Given the description of an element on the screen output the (x, y) to click on. 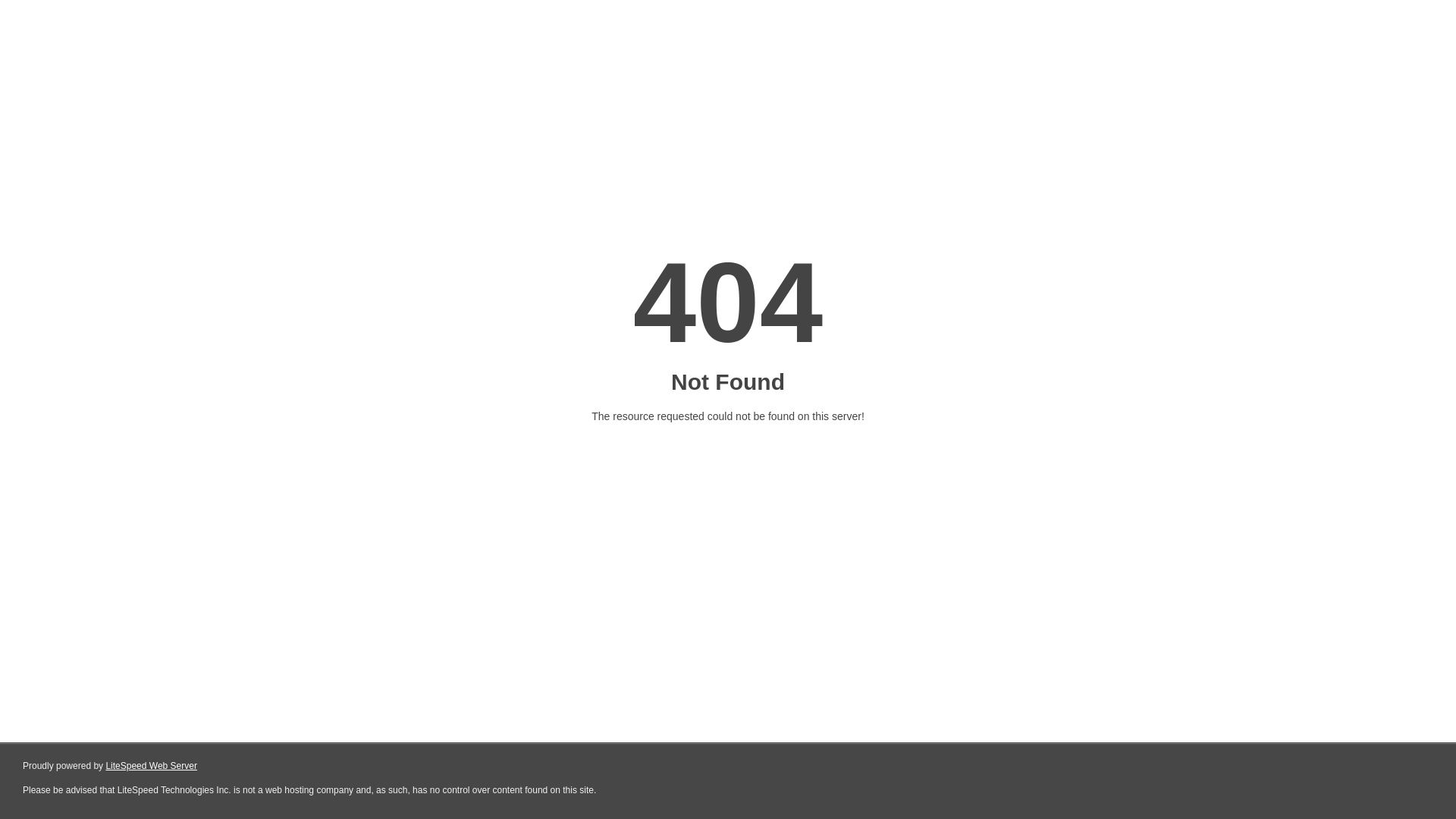
LiteSpeed Web Server Element type: text (151, 765)
